Given the description of an element on the screen output the (x, y) to click on. 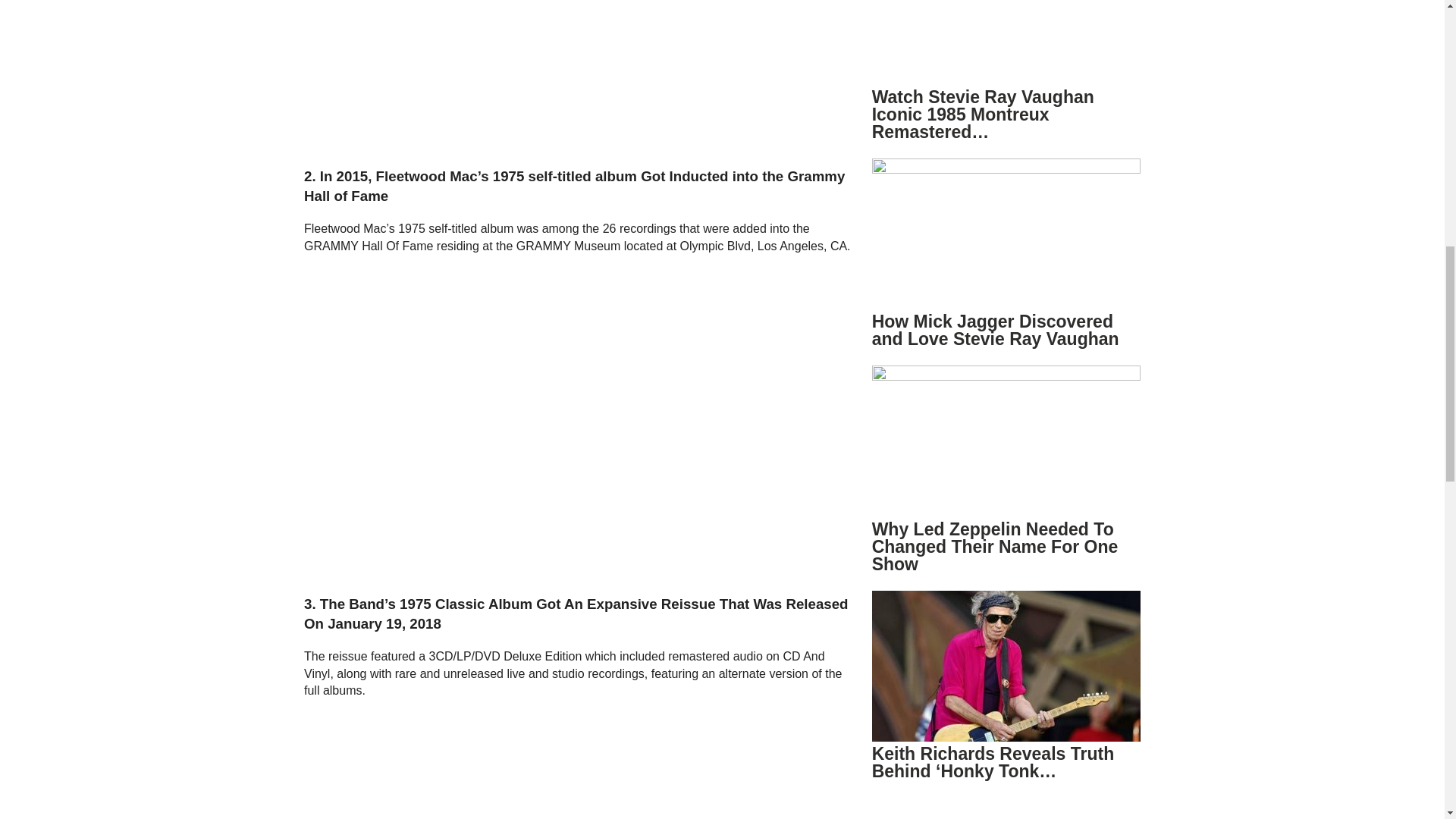
Fleetwood Mac Deluxe Promo Video (493, 765)
Monday Morning (493, 408)
Why Led Zeppelin Needed To Changed Their Name For One Show (995, 546)
How Mick Jagger Discovered and Love Stevie Ray Vaughan (995, 330)
